Given the description of an element on the screen output the (x, y) to click on. 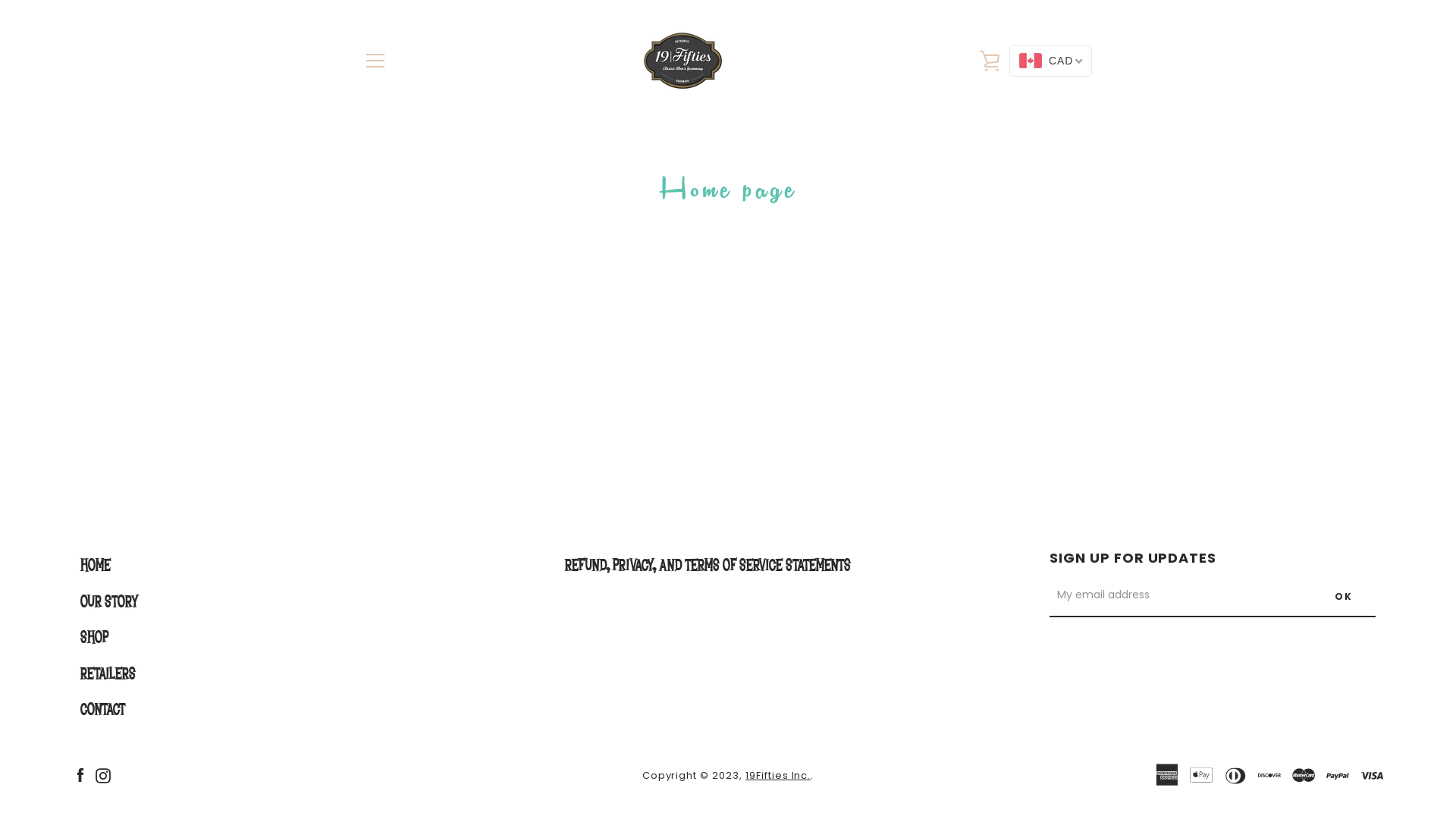
OUR STORY Element type: text (109, 600)
TRANSLATION MISSING: EN.GENERAL.HEADER.MENU Element type: text (375, 60)
CONTACT Element type: text (102, 709)
Instagram Element type: text (102, 774)
Facebook Element type: text (79, 774)
SHOP Element type: text (94, 637)
REFUND, PRIVACY, AND TERMS OF SERVICE STATEMENTS Element type: text (707, 565)
19Fifties Inc. Element type: text (777, 774)
RETAILERS Element type: text (107, 673)
HOME Element type: text (95, 565)
VIEW CART Element type: text (990, 60)
Skip to content Element type: text (0, 0)
Ok Element type: text (1343, 596)
